Given the description of an element on the screen output the (x, y) to click on. 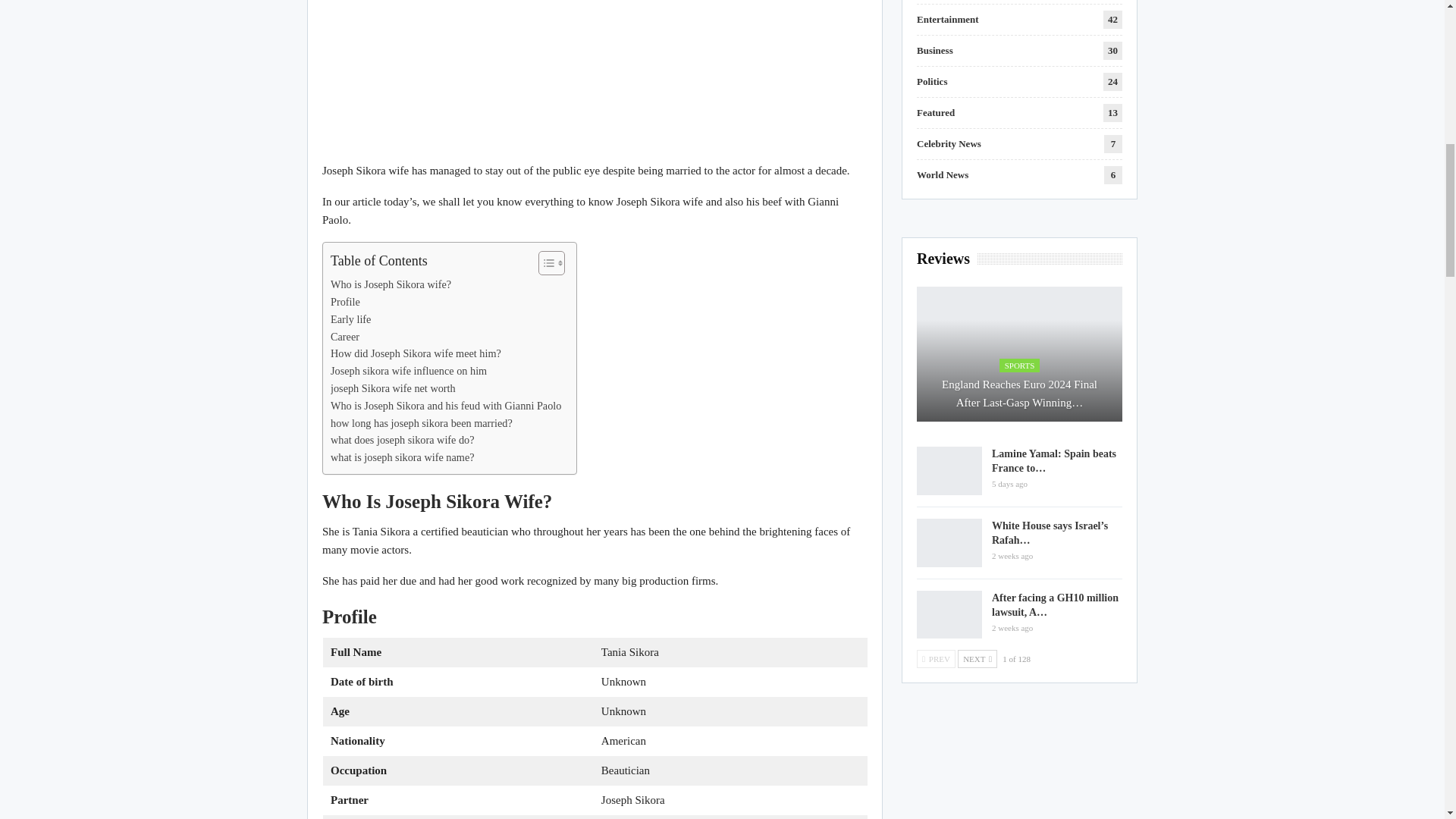
joseph Sikora wife net worth (392, 388)
Joseph sikora wife influence on him (408, 371)
How did Joseph Sikora wife meet him? (415, 353)
Early life (350, 319)
Career (344, 336)
what does joseph sikora wife do? (402, 439)
Joseph sikora wife influence on him (408, 371)
how long has joseph sikora been married? (421, 423)
Profile (344, 302)
Who is Joseph Sikora wife? (390, 284)
Career (344, 336)
Who is Joseph Sikora and his feud with Gianni Paolo (445, 405)
How did Joseph Sikora wife meet him? (415, 353)
Early life (350, 319)
Advertisement (594, 80)
